Given the description of an element on the screen output the (x, y) to click on. 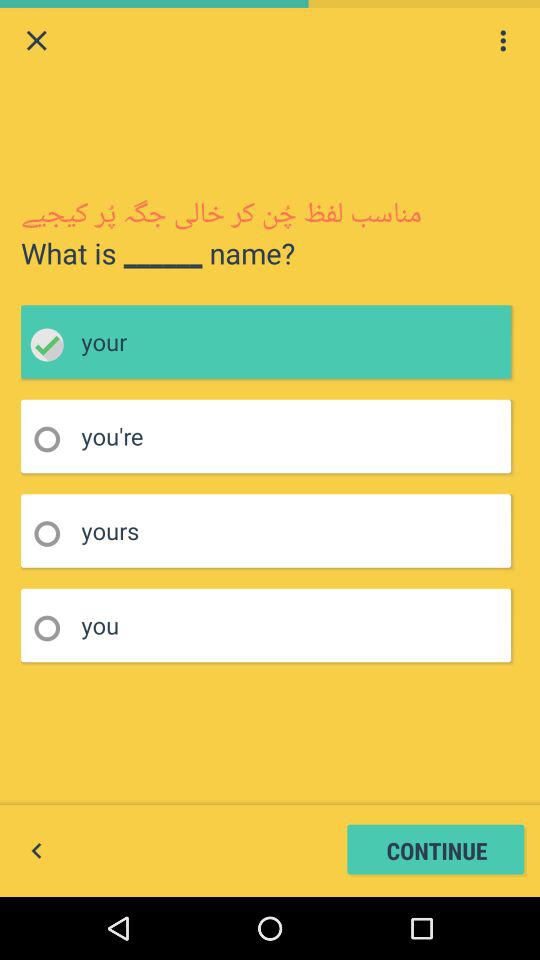
click (53, 344)
